Given the description of an element on the screen output the (x, y) to click on. 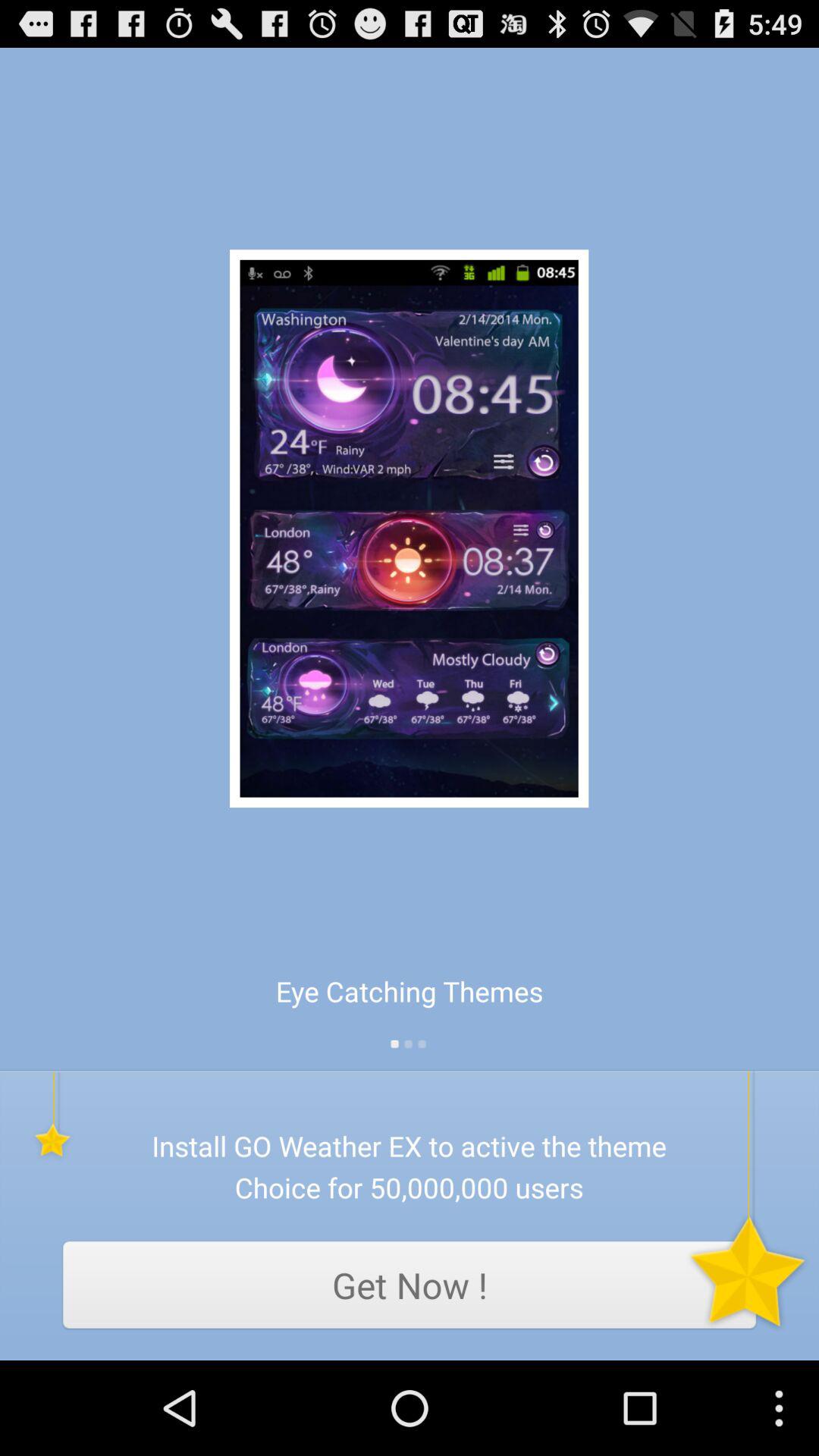
flip until the get now ! (409, 1285)
